Given the description of an element on the screen output the (x, y) to click on. 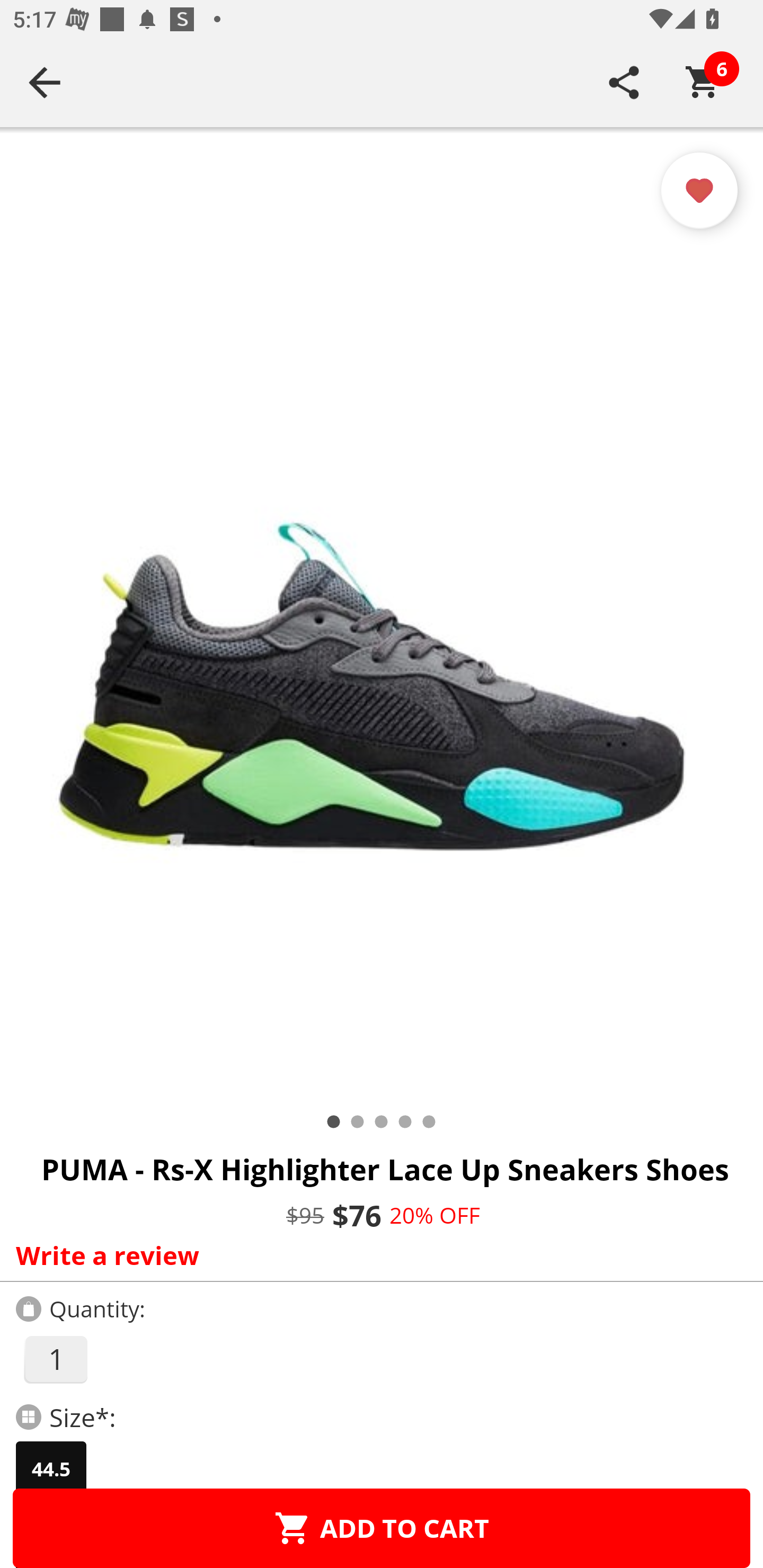
Navigate up (44, 82)
SHARE (623, 82)
Cart (703, 81)
Write a review (377, 1255)
1 (55, 1358)
44.5 (51, 1468)
ADD TO CART (381, 1528)
